Given the description of an element on the screen output the (x, y) to click on. 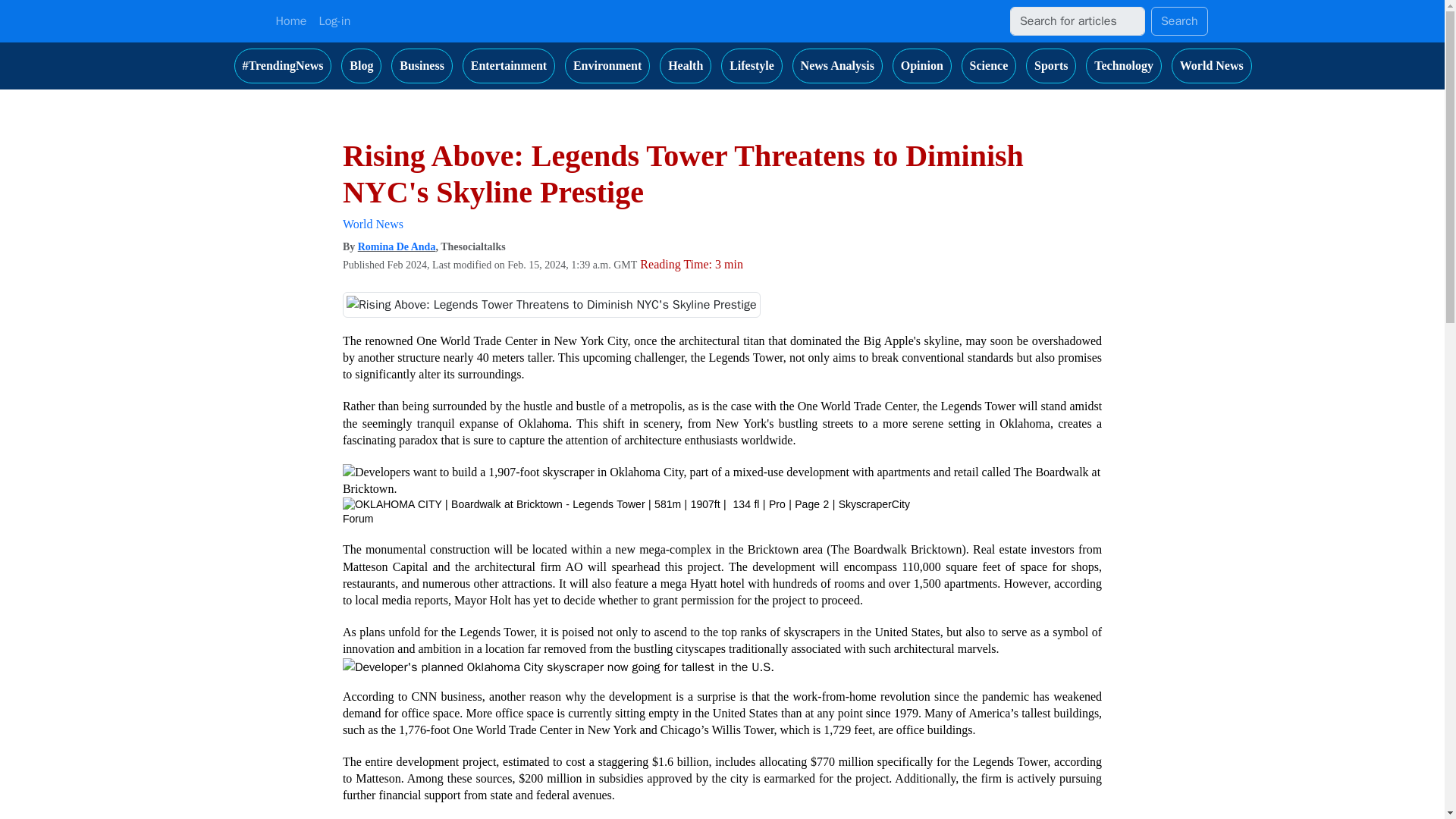
Environment (606, 65)
World News (372, 223)
Search (1179, 21)
Sports (1050, 65)
Log-in (334, 20)
Opinion (922, 65)
World News (1212, 65)
Blog (360, 65)
Business (421, 65)
Romina De Anda (396, 246)
